Given the description of an element on the screen output the (x, y) to click on. 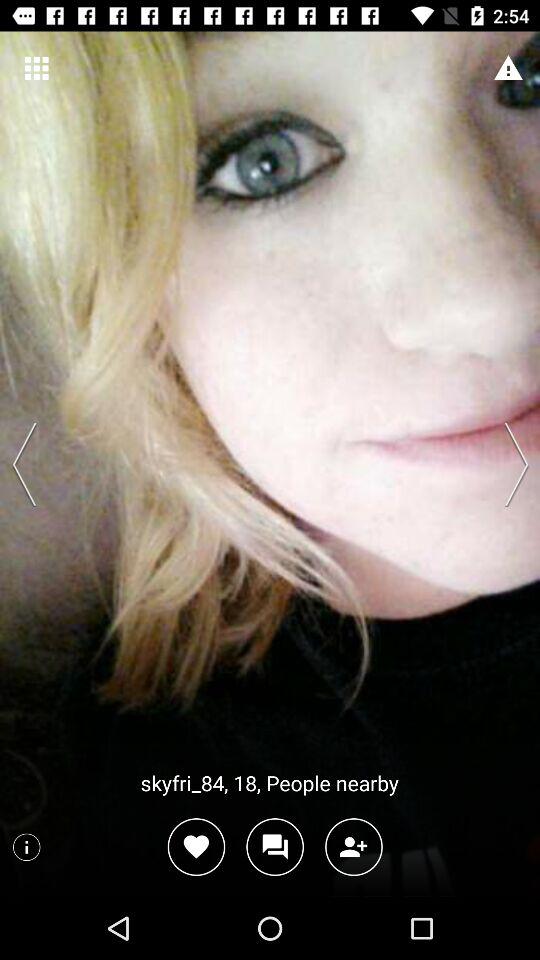
select the item below skyfri_84 18 people icon (353, 846)
